Given the description of an element on the screen output the (x, y) to click on. 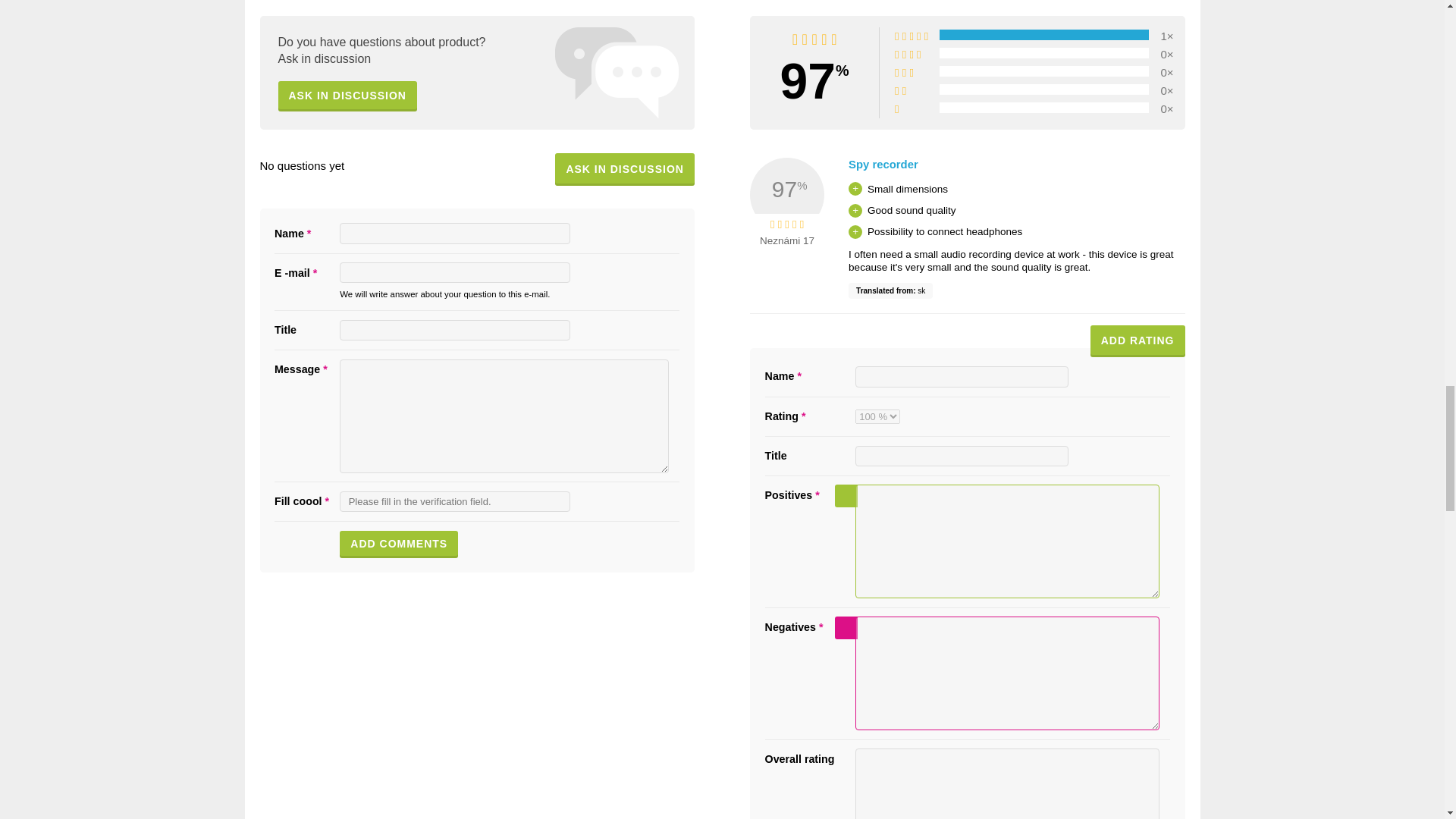
ASK IN DISCUSSION (347, 96)
Add comments (398, 543)
ASK IN DISCUSSION (624, 169)
ADD RATING (1137, 341)
Add comments (398, 543)
